Given the description of an element on the screen output the (x, y) to click on. 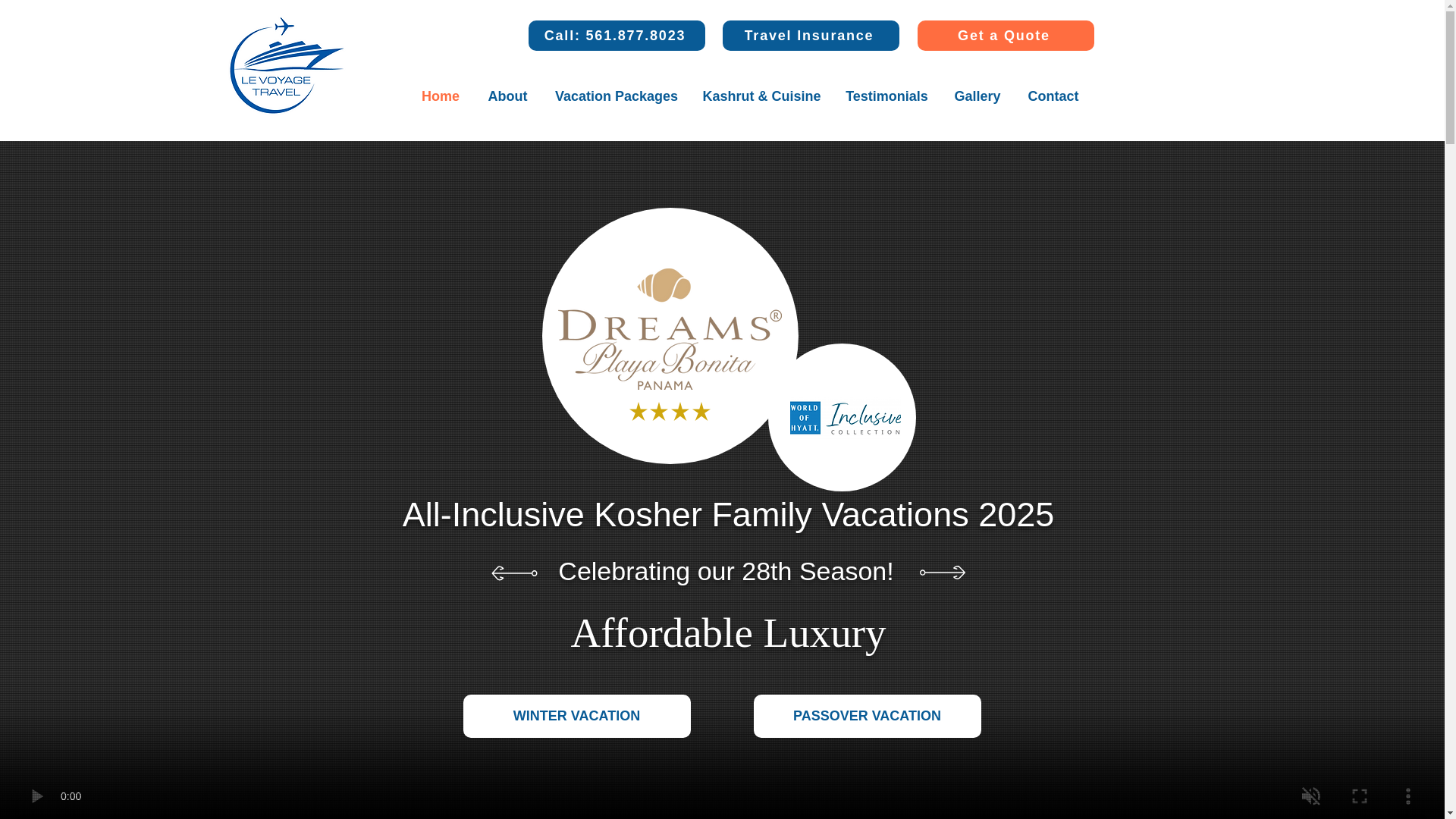
PASSOVER VACATION (867, 715)
Contact (1053, 95)
Testimonials (887, 95)
WINTER VACATION (576, 715)
Get a Quote (1005, 35)
About (507, 95)
Home (440, 95)
Gallery (977, 95)
Call: 561.877.8023 (615, 35)
Travel Insurance (810, 35)
